Given the description of an element on the screen output the (x, y) to click on. 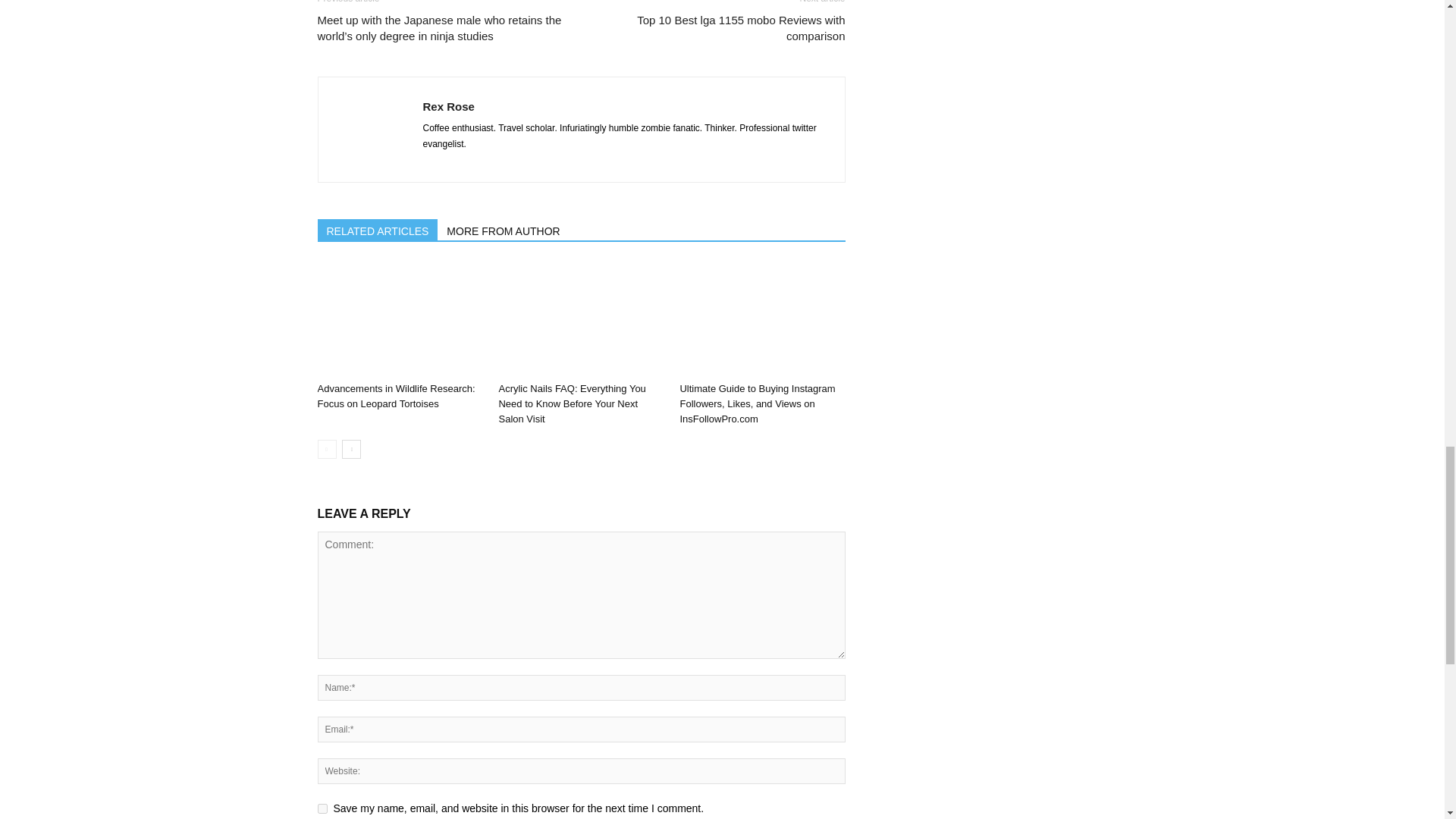
yes (321, 808)
